Given the description of an element on the screen output the (x, y) to click on. 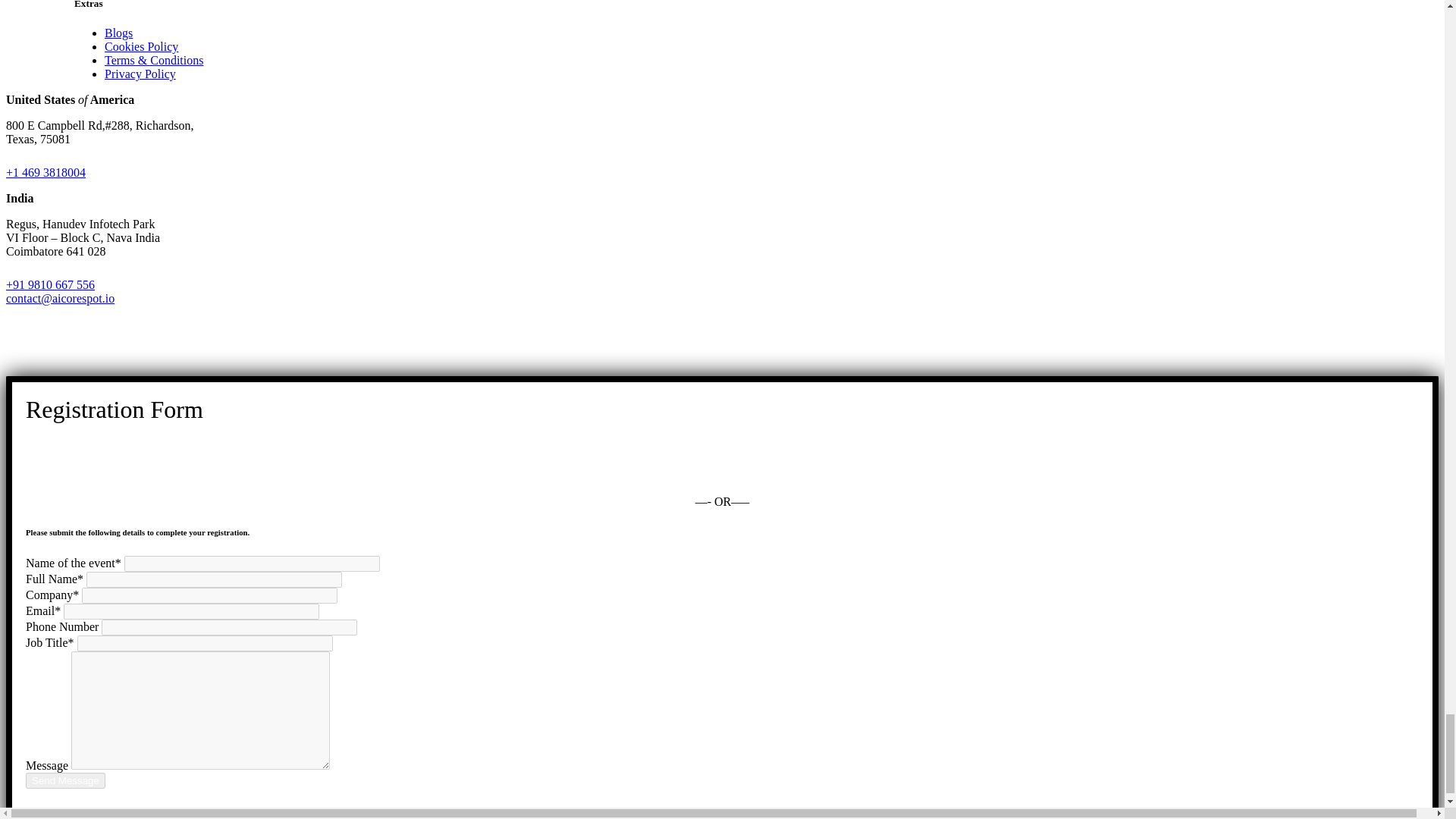
Send Message (65, 780)
